Given the description of an element on the screen output the (x, y) to click on. 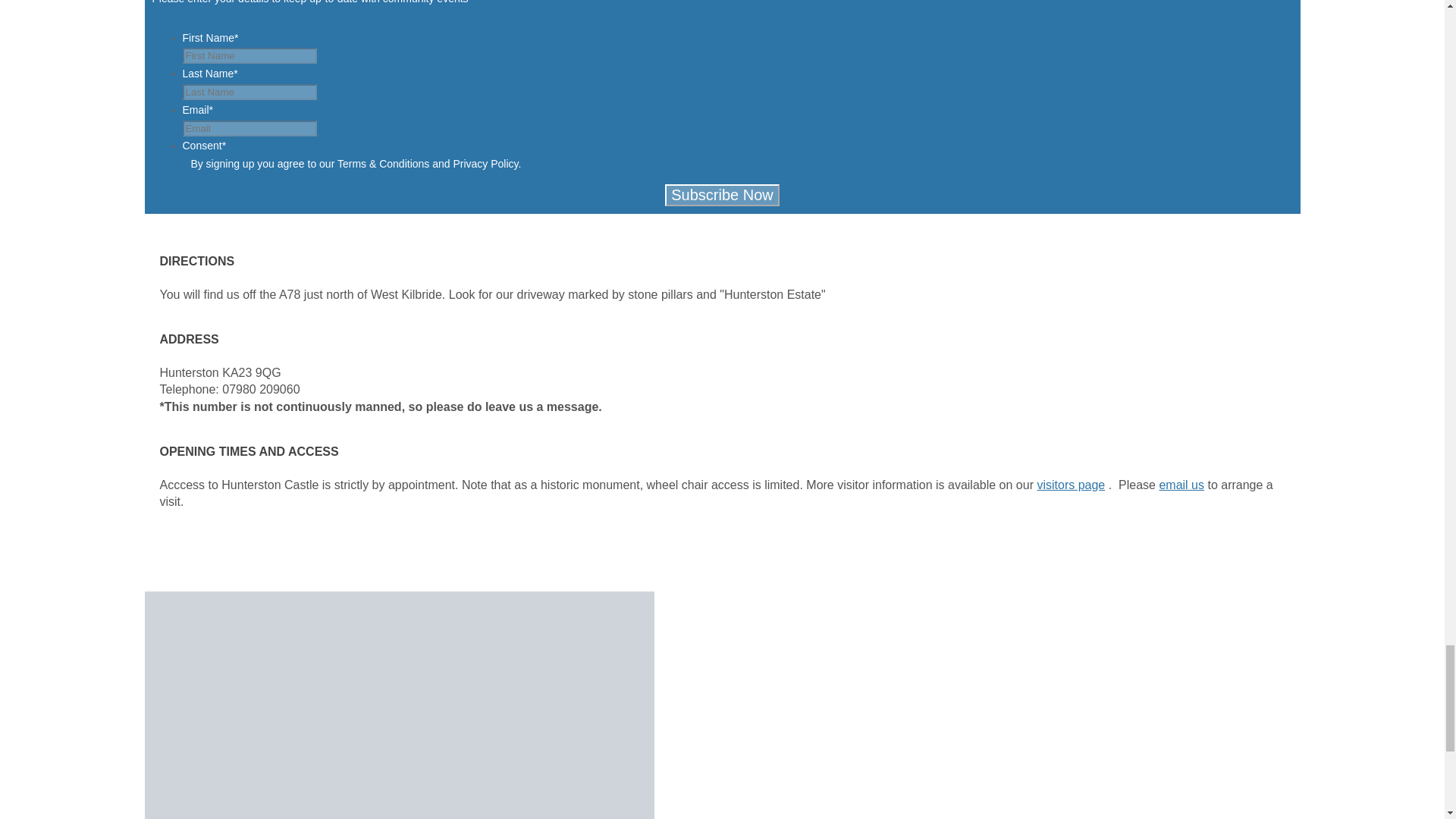
Email link to Clan Hunter (1181, 484)
map (398, 705)
Link to Visitor Information page (1070, 484)
